Given the description of an element on the screen output the (x, y) to click on. 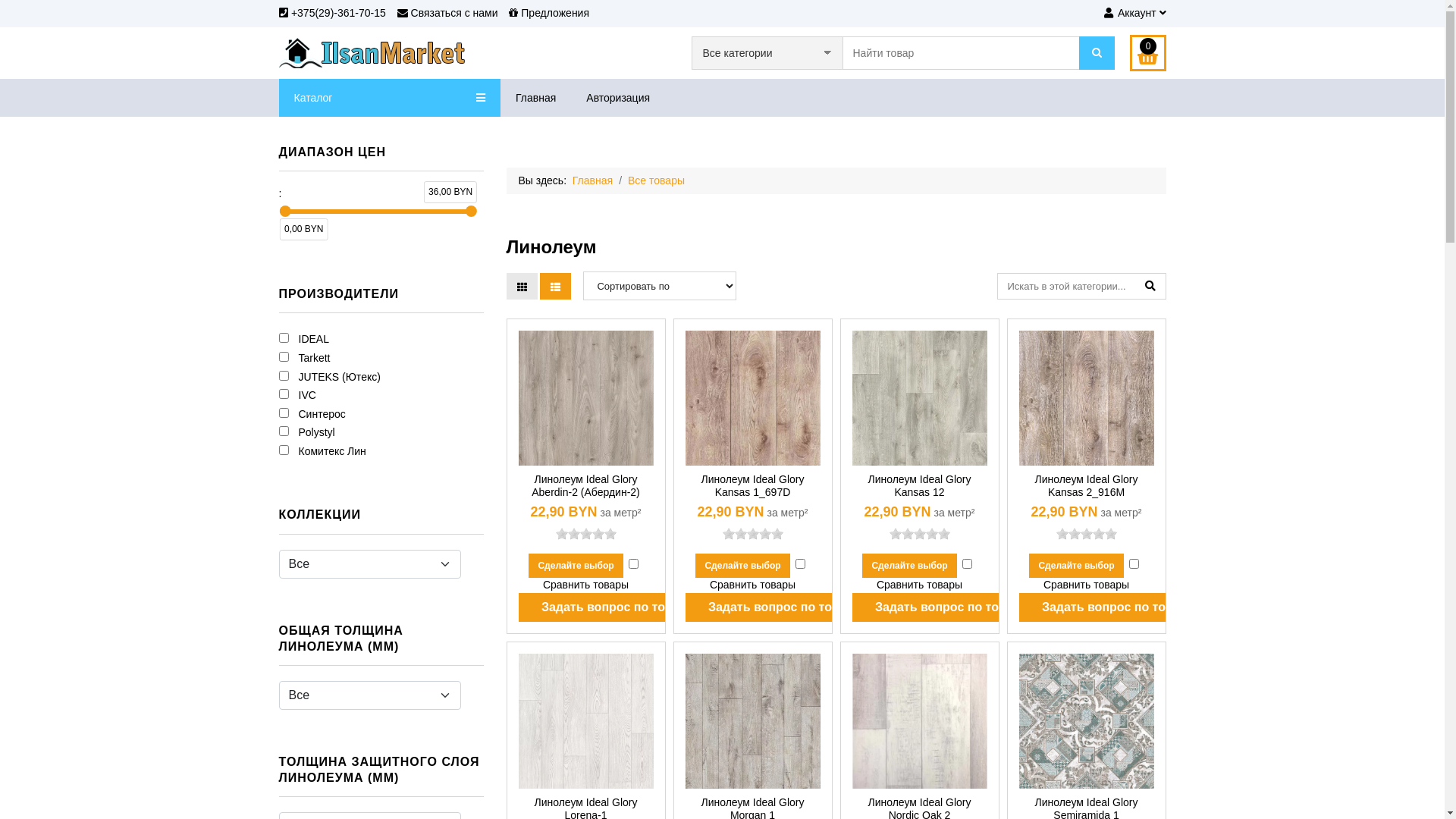
+375(29)-361-70-15 Element type: text (332, 12)
